Given the description of an element on the screen output the (x, y) to click on. 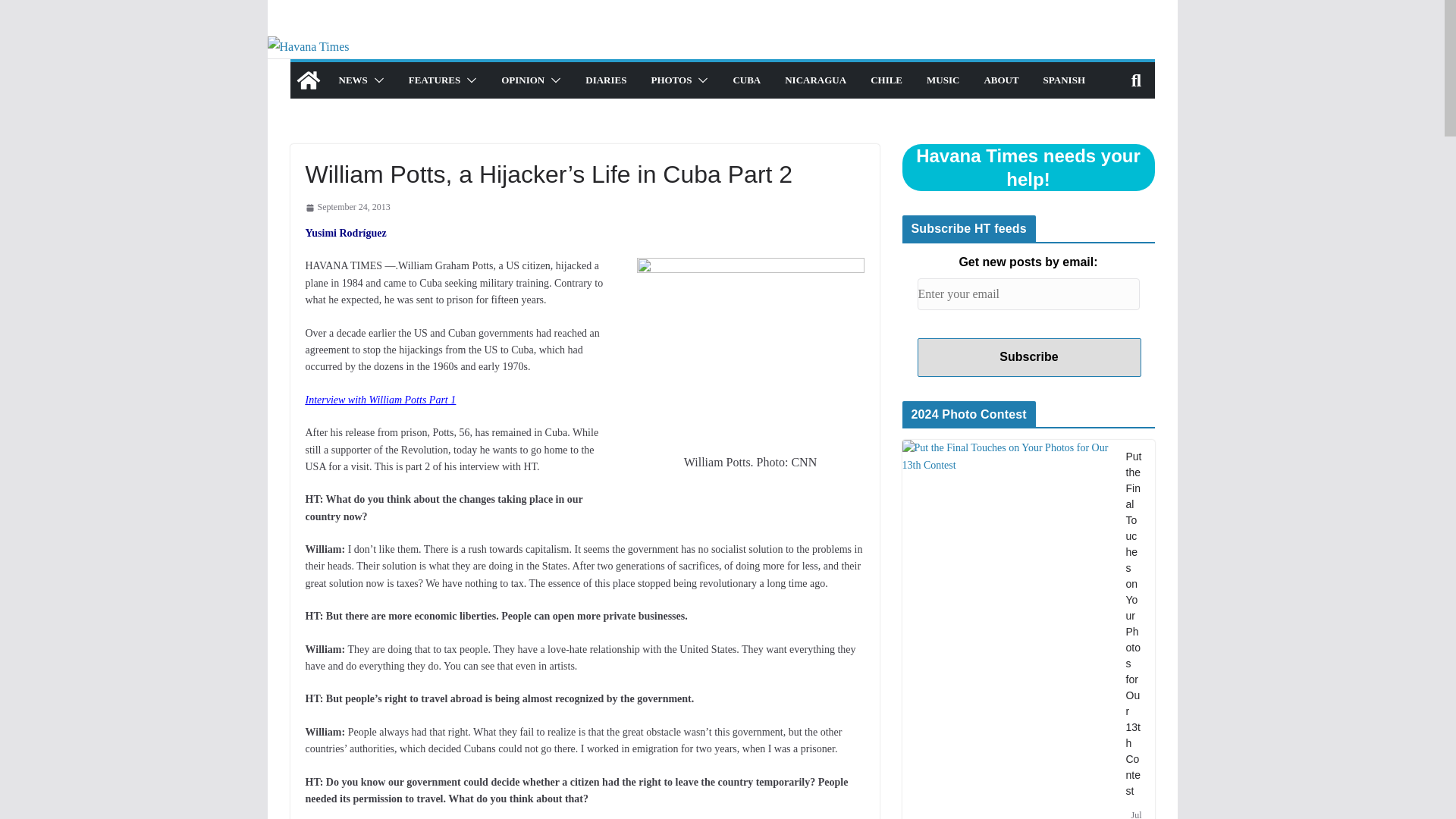
6:07 am (347, 207)
CUBA (746, 80)
CHILE (886, 80)
Havana Times (307, 80)
DIARIES (605, 80)
Havana Times needs your help! (1027, 167)
NEWS (351, 80)
FEATURES (434, 80)
ABOUT (1000, 80)
Havana Times (307, 46)
